Given the description of an element on the screen output the (x, y) to click on. 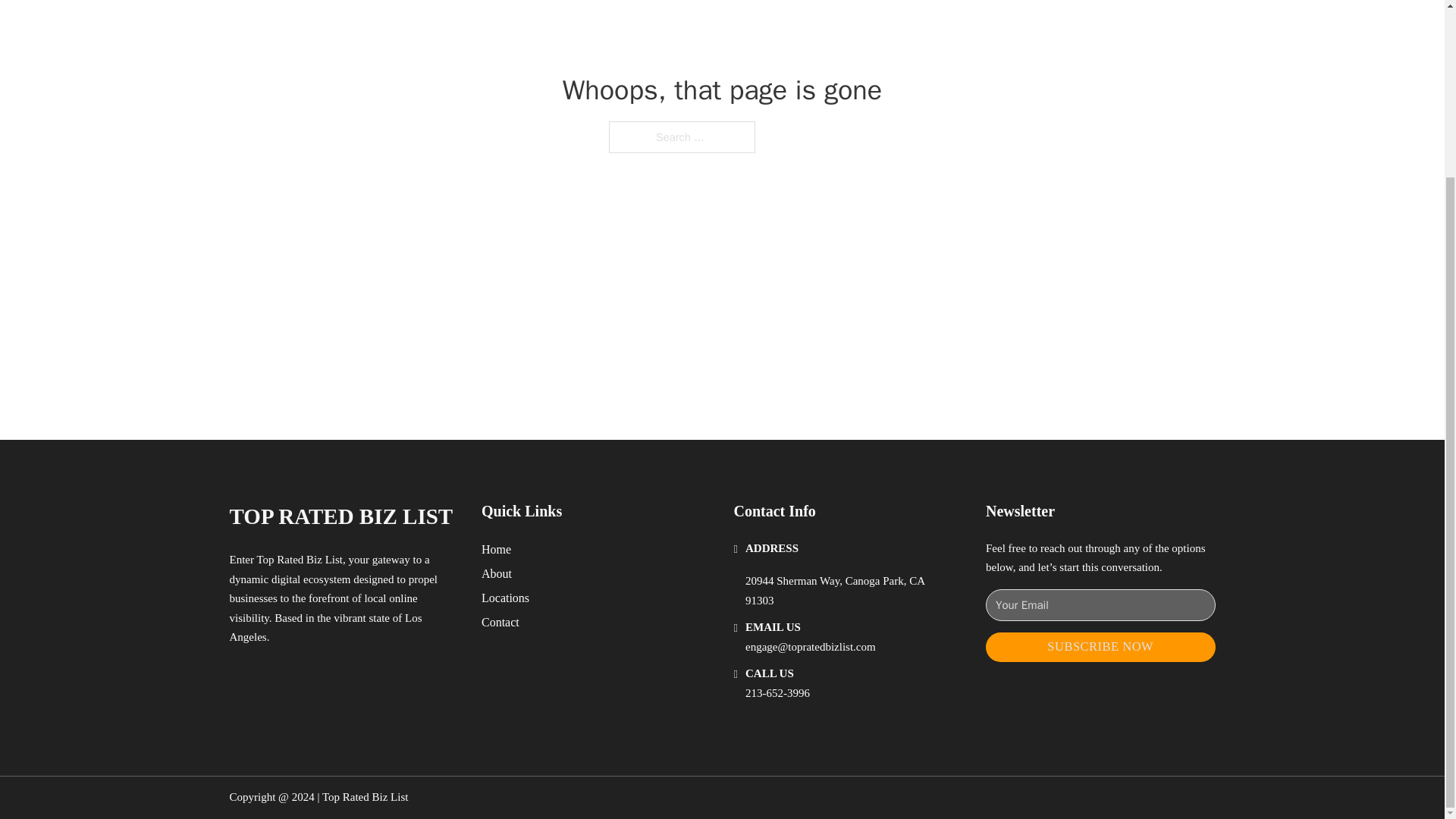
About (496, 573)
SUBSCRIBE NOW (1100, 646)
Locations (505, 598)
Home (496, 548)
213-652-3996 (777, 693)
TOP RATED BIZ LIST (340, 516)
Contact (500, 621)
